Given the description of an element on the screen output the (x, y) to click on. 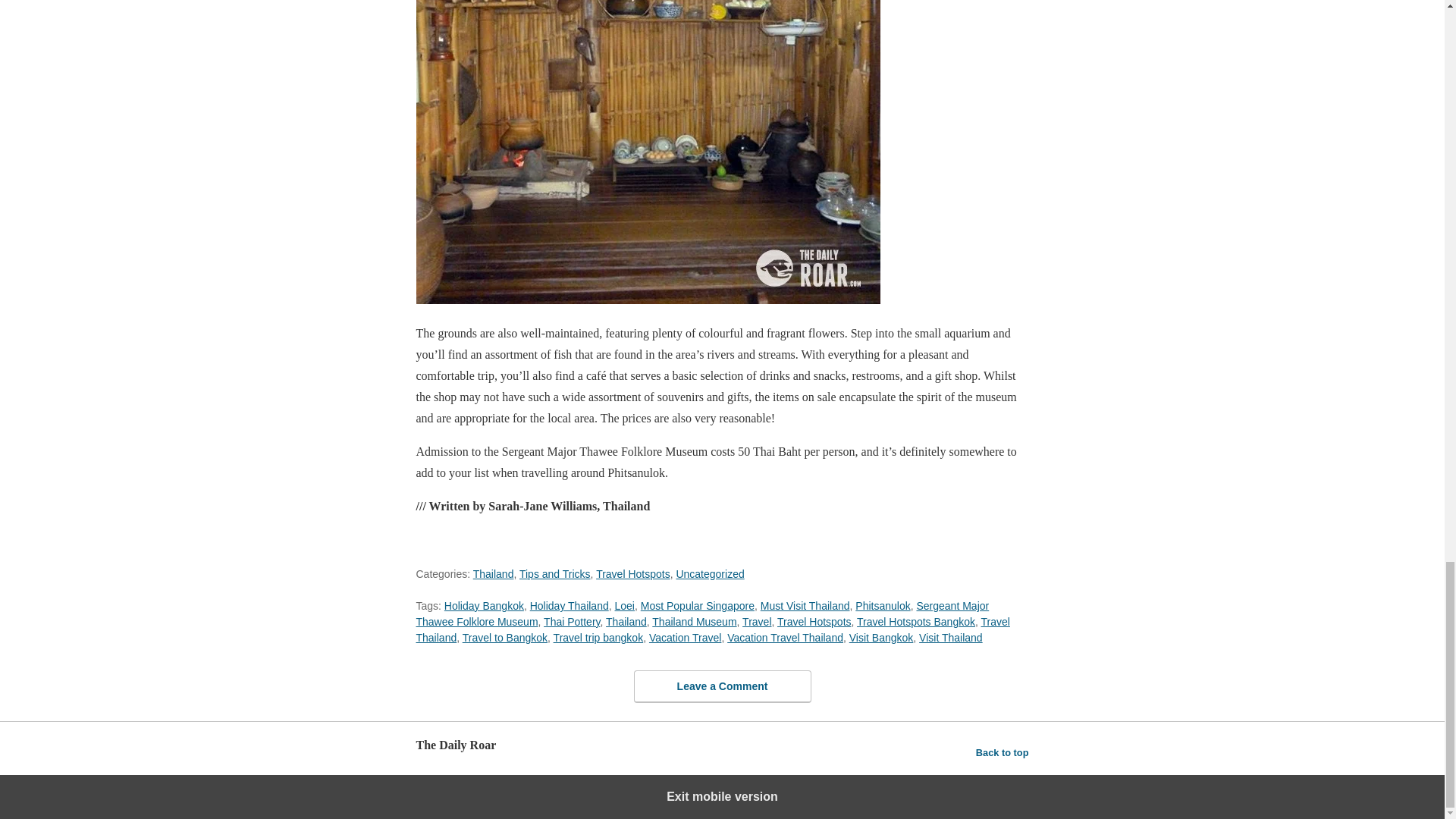
Uncategorized (709, 573)
Back to top (1002, 752)
Travel Hotspots (814, 621)
Visit Bangkok (881, 637)
Holiday Bangkok (484, 605)
Holiday Thailand (568, 605)
Thailand (625, 621)
Travel (756, 621)
Travel to Bangkok (505, 637)
Sergeant Major Thawee Folklore Museum (701, 613)
Travel trip bangkok (598, 637)
Loei (624, 605)
Must Visit Thailand (805, 605)
Thai Pottery (571, 621)
Thailand (493, 573)
